Given the description of an element on the screen output the (x, y) to click on. 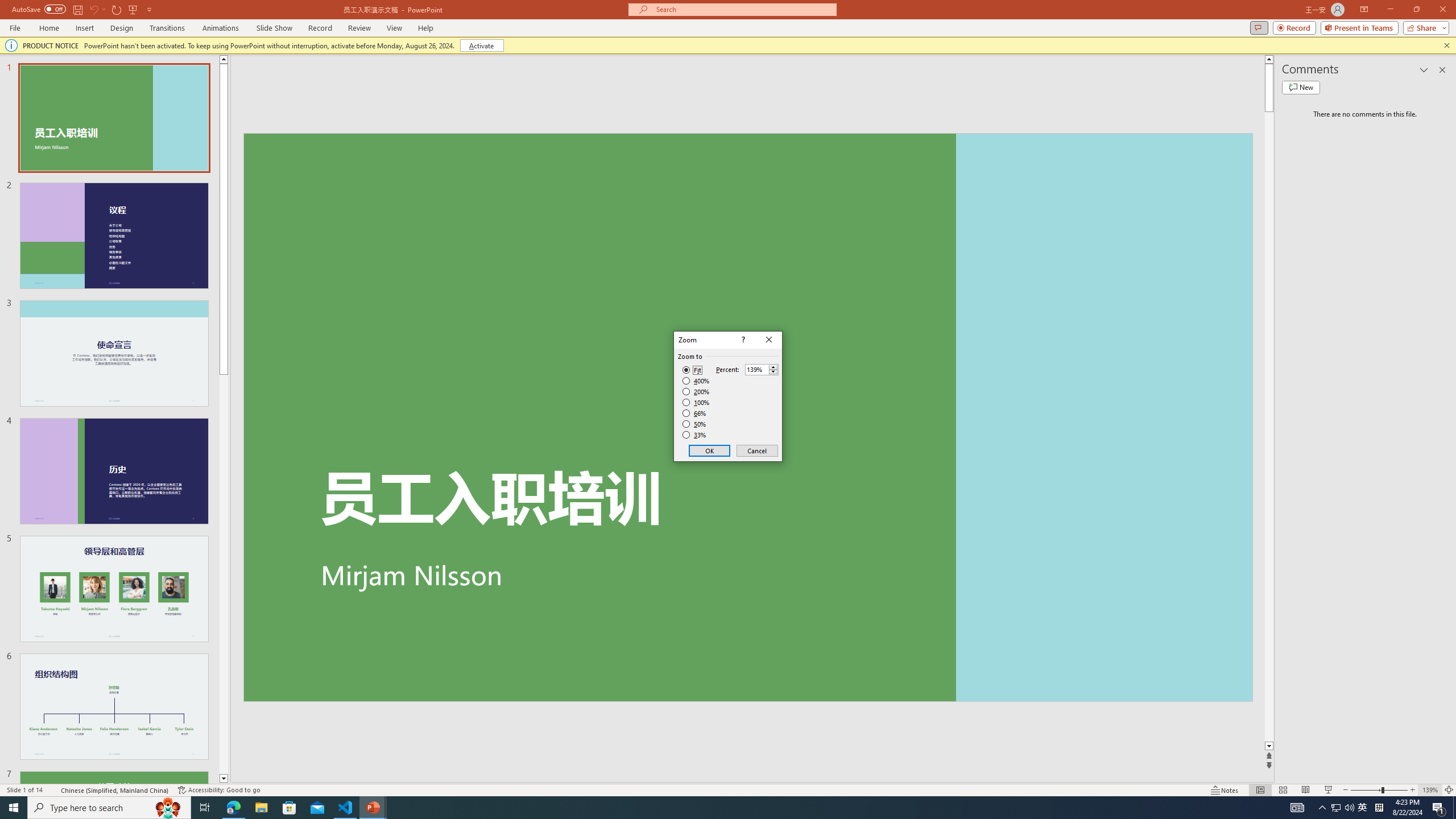
Slide Show (1328, 790)
More (772, 366)
Zoom Out (1366, 790)
File Tab (15, 27)
Task Pane Options (1423, 69)
Transitions (167, 28)
200% (696, 391)
Insert (83, 28)
100% (696, 402)
Ribbon Display Options (1364, 9)
Close this message (1446, 45)
Zoom (1379, 790)
Less (772, 372)
Notes  (1225, 790)
Percent (761, 369)
